Given the description of an element on the screen output the (x, y) to click on. 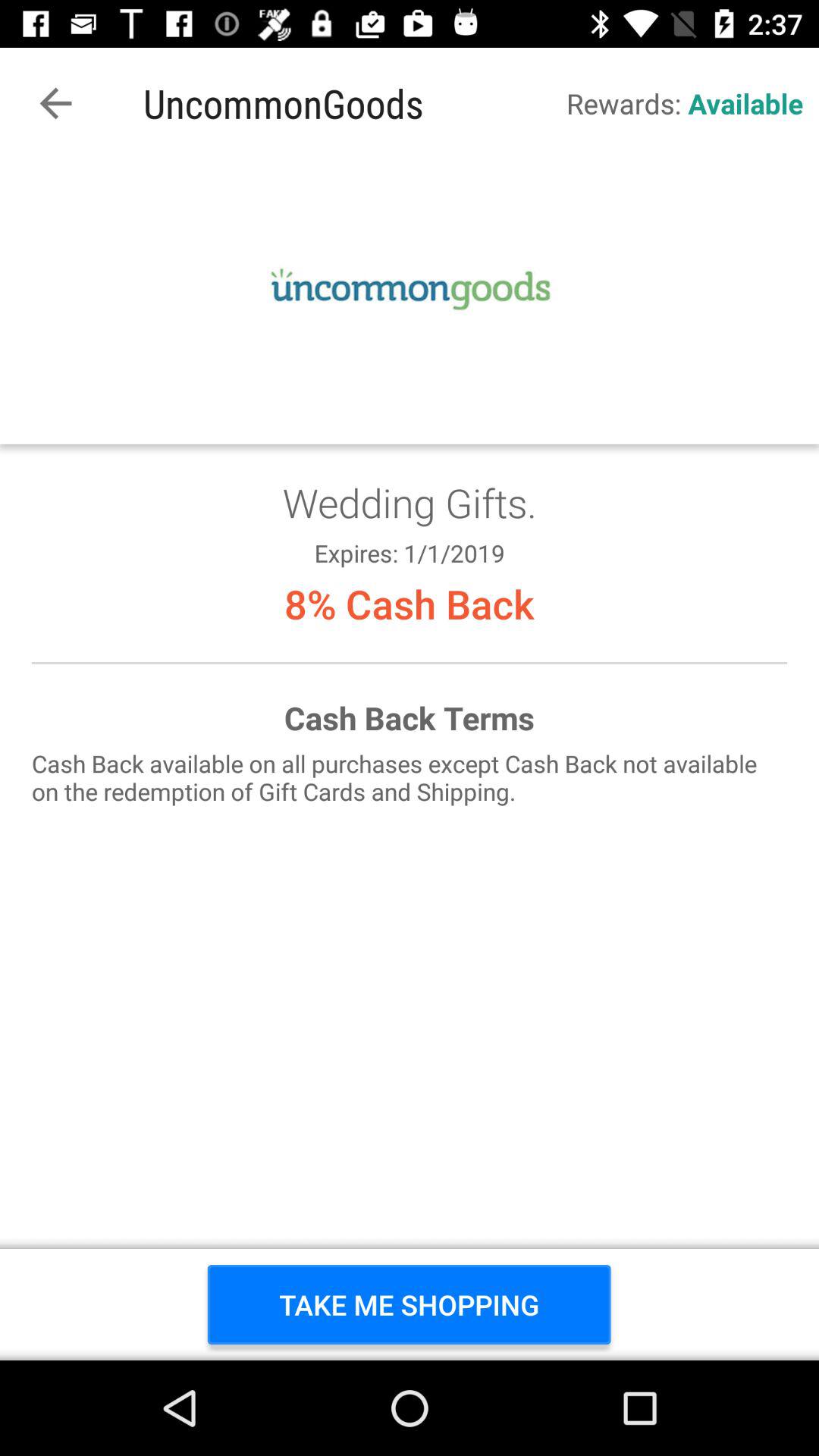
tap app next to the uncommongoods app (55, 103)
